Given the description of an element on the screen output the (x, y) to click on. 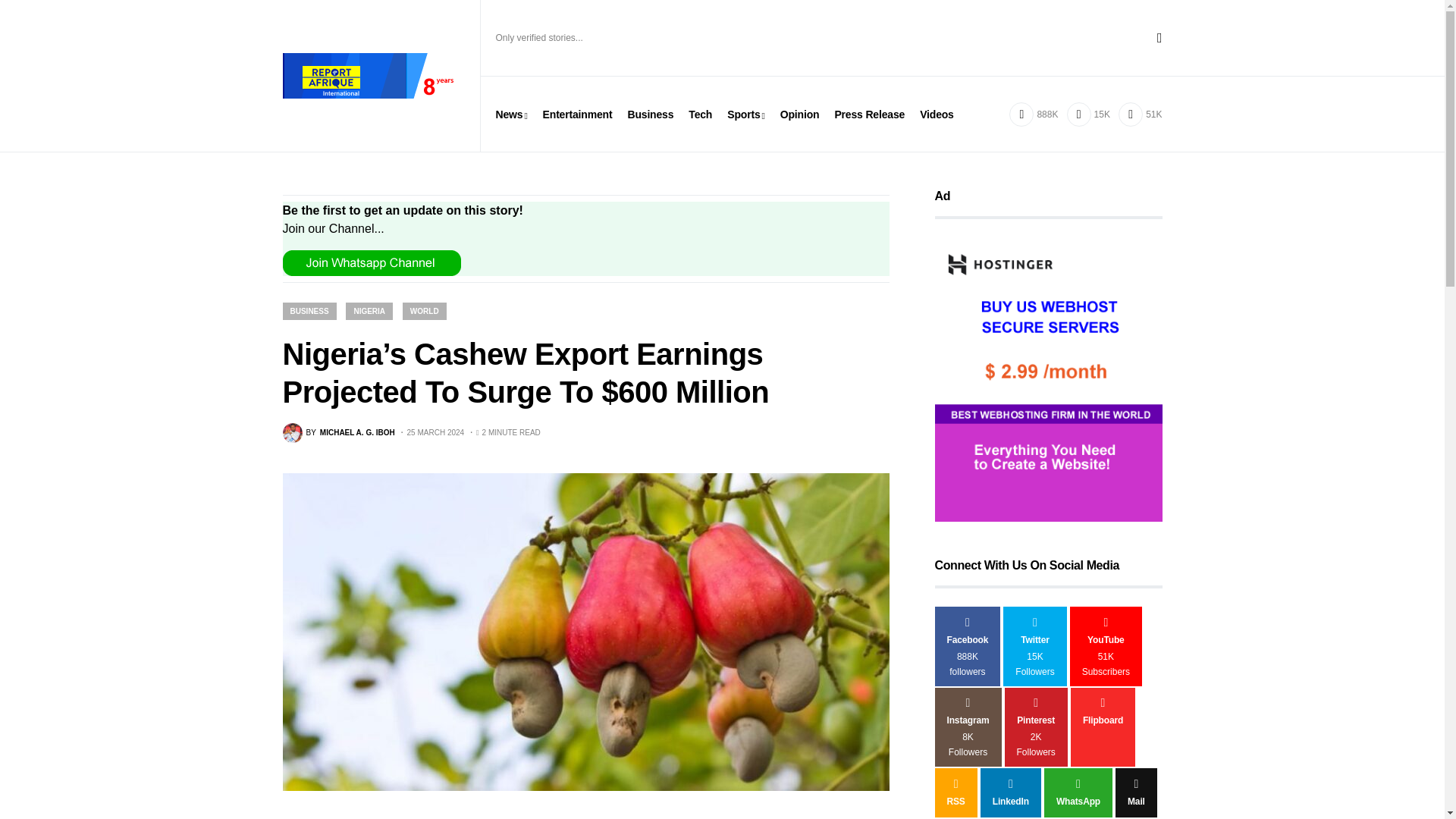
15K (1088, 114)
Entertainment (577, 114)
888K (1033, 114)
Press Release (869, 114)
View all posts by Michael A. G. Iboh (338, 433)
51K (1139, 114)
